Given the description of an element on the screen output the (x, y) to click on. 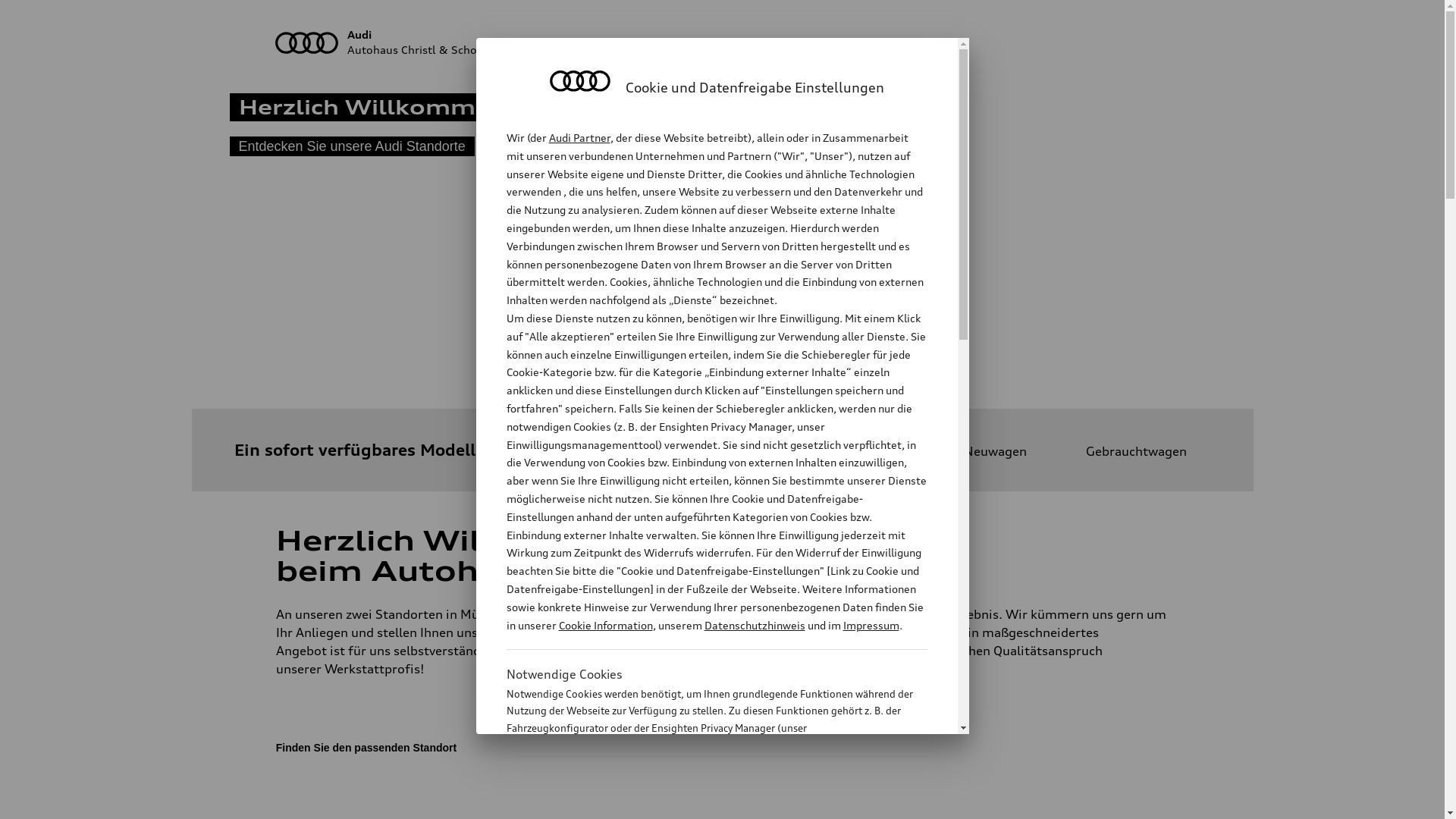
Audi Partner Element type: text (579, 137)
Datenschutzhinweis Element type: text (753, 624)
Cookie Information Element type: text (605, 624)
Gebrauchtwagen Element type: text (1122, 450)
Audi
Autohaus Christl & Schowalter Element type: text (722, 42)
Impressum Element type: text (871, 624)
Neuwagen Element type: text (980, 450)
Cookie Information Element type: text (700, 802)
